Given the description of an element on the screen output the (x, y) to click on. 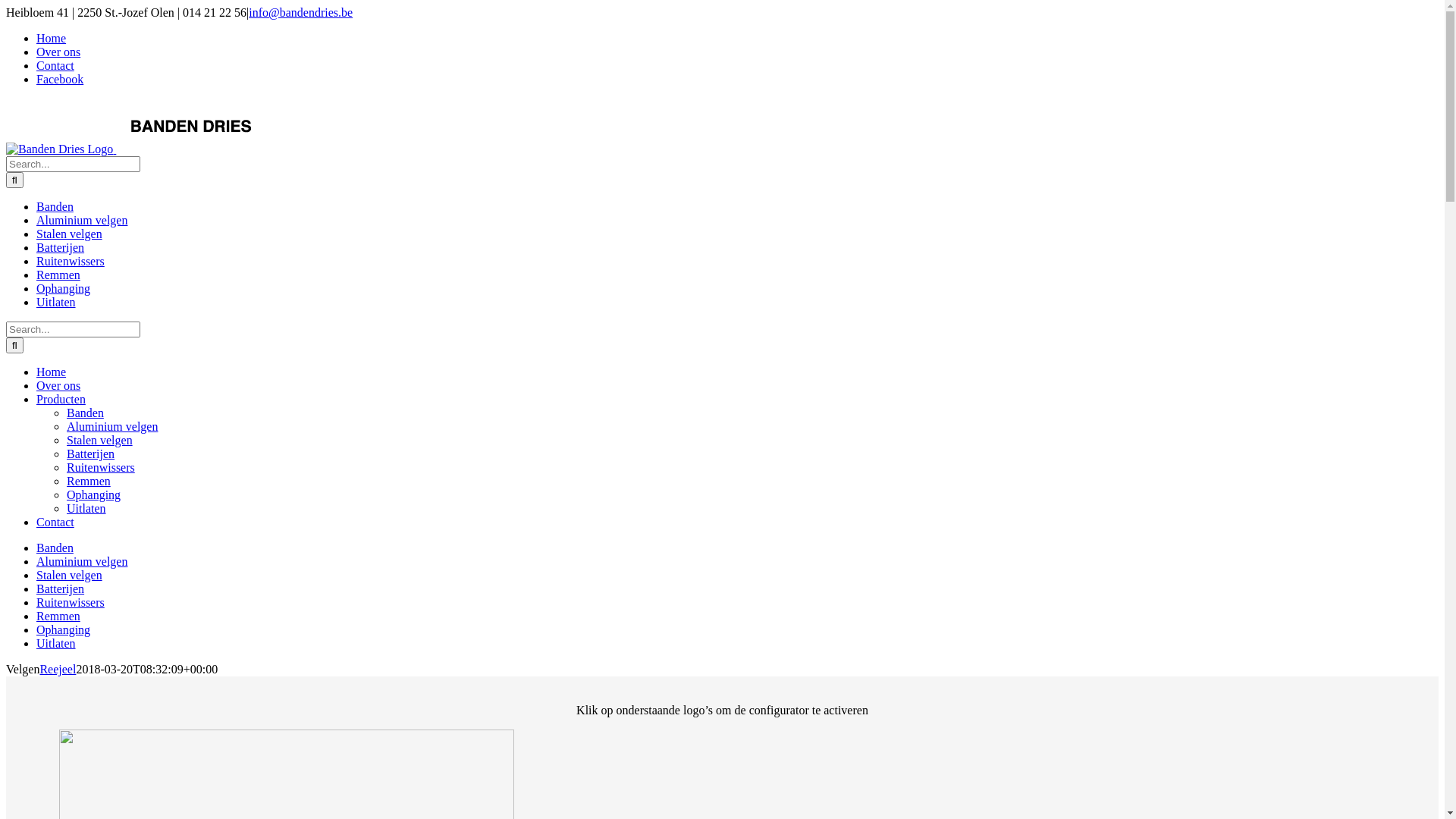
Uitlaten Element type: text (55, 301)
Banden Element type: text (54, 547)
Uitlaten Element type: text (55, 643)
Over ons Element type: text (58, 51)
Facebook Element type: text (59, 78)
Uitlaten Element type: text (86, 508)
Contact Element type: text (55, 521)
info@bandendries.be Element type: text (300, 12)
Stalen velgen Element type: text (69, 233)
Batterijen Element type: text (60, 247)
Contact Element type: text (55, 65)
Aluminium velgen Element type: text (81, 219)
Remmen Element type: text (88, 480)
Aluminium velgen Element type: text (81, 561)
Banden Element type: text (84, 412)
Ophanging Element type: text (93, 494)
Skip to content Element type: text (5, 5)
Ruitenwissers Element type: text (70, 602)
Ruitenwissers Element type: text (70, 260)
Aluminium velgen Element type: text (111, 426)
Batterijen Element type: text (90, 453)
Home Element type: text (50, 371)
Remmen Element type: text (58, 274)
Ophanging Element type: text (63, 288)
Batterijen Element type: text (60, 588)
Ruitenwissers Element type: text (100, 467)
Reejeel Element type: text (57, 668)
Remmen Element type: text (58, 615)
Banden Element type: text (54, 206)
Stalen velgen Element type: text (99, 439)
Home Element type: text (50, 37)
Over ons Element type: text (58, 385)
Ophanging Element type: text (63, 629)
Stalen velgen Element type: text (69, 574)
Producten Element type: text (60, 398)
